Given the description of an element on the screen output the (x, y) to click on. 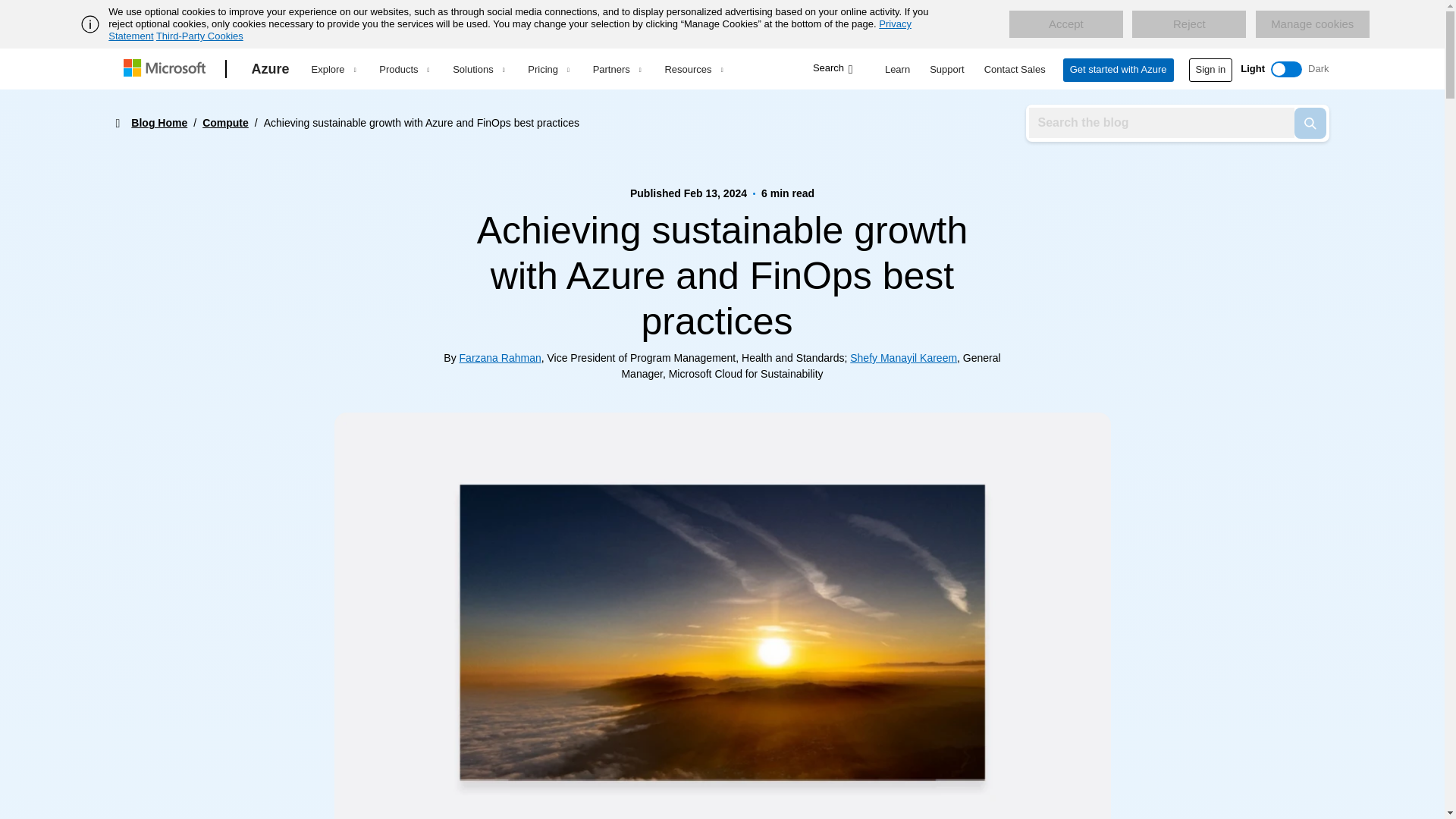
Microsoft (167, 69)
Manage cookies (1312, 23)
Privacy Statement (509, 29)
Products (403, 69)
Accept (1065, 23)
Reject (1189, 23)
Third-Party Cookies (199, 35)
Azure (270, 69)
Explore (333, 69)
